Given the description of an element on the screen output the (x, y) to click on. 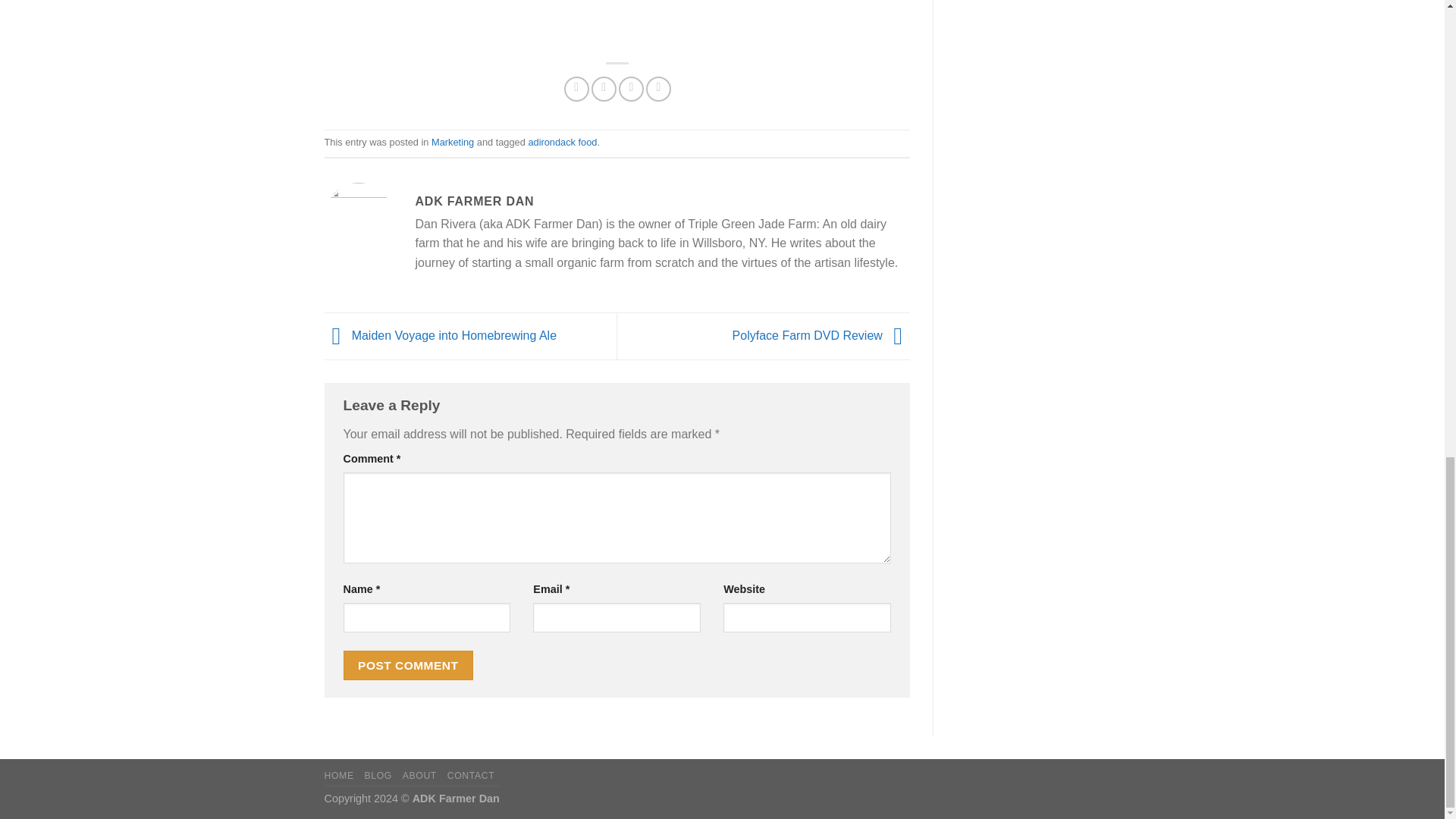
ABOUT (419, 775)
Pin on Pinterest (658, 88)
Marketing (452, 142)
BLOG (377, 775)
Share on Facebook (576, 88)
CONTACT (470, 775)
adirondack food (561, 142)
Polyface Farm DVD Review (821, 335)
Maiden Voyage into Homebrewing Ale (440, 335)
Post Comment (407, 665)
HOME (338, 775)
Email to a Friend (630, 88)
Post Comment (407, 665)
Share on Twitter (603, 88)
